Given the description of an element on the screen output the (x, y) to click on. 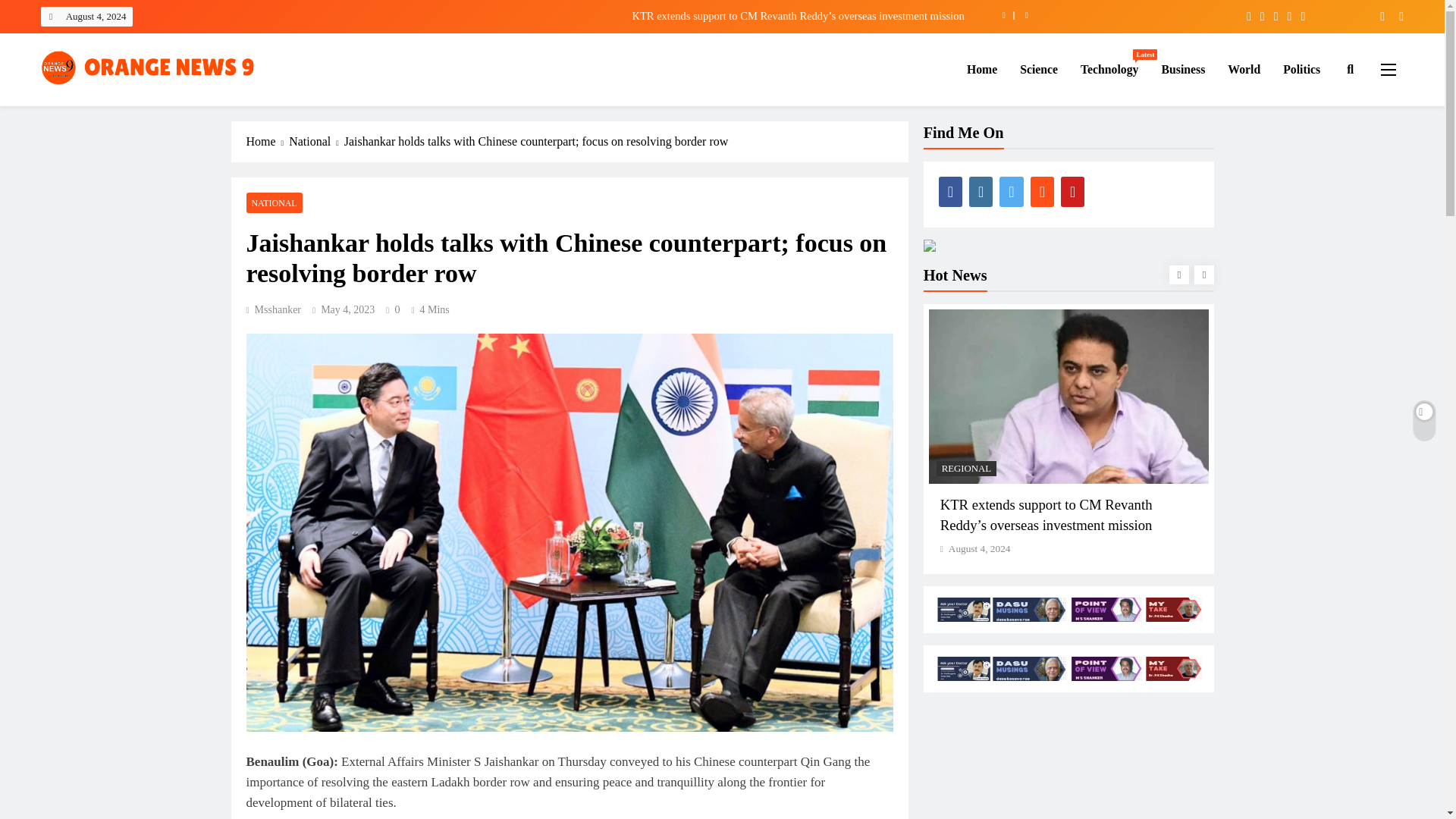
Home (982, 69)
World (1243, 69)
Science (1038, 69)
Business (1182, 69)
OrangeNews9 (111, 107)
Politics (1301, 69)
